Given the description of an element on the screen output the (x, y) to click on. 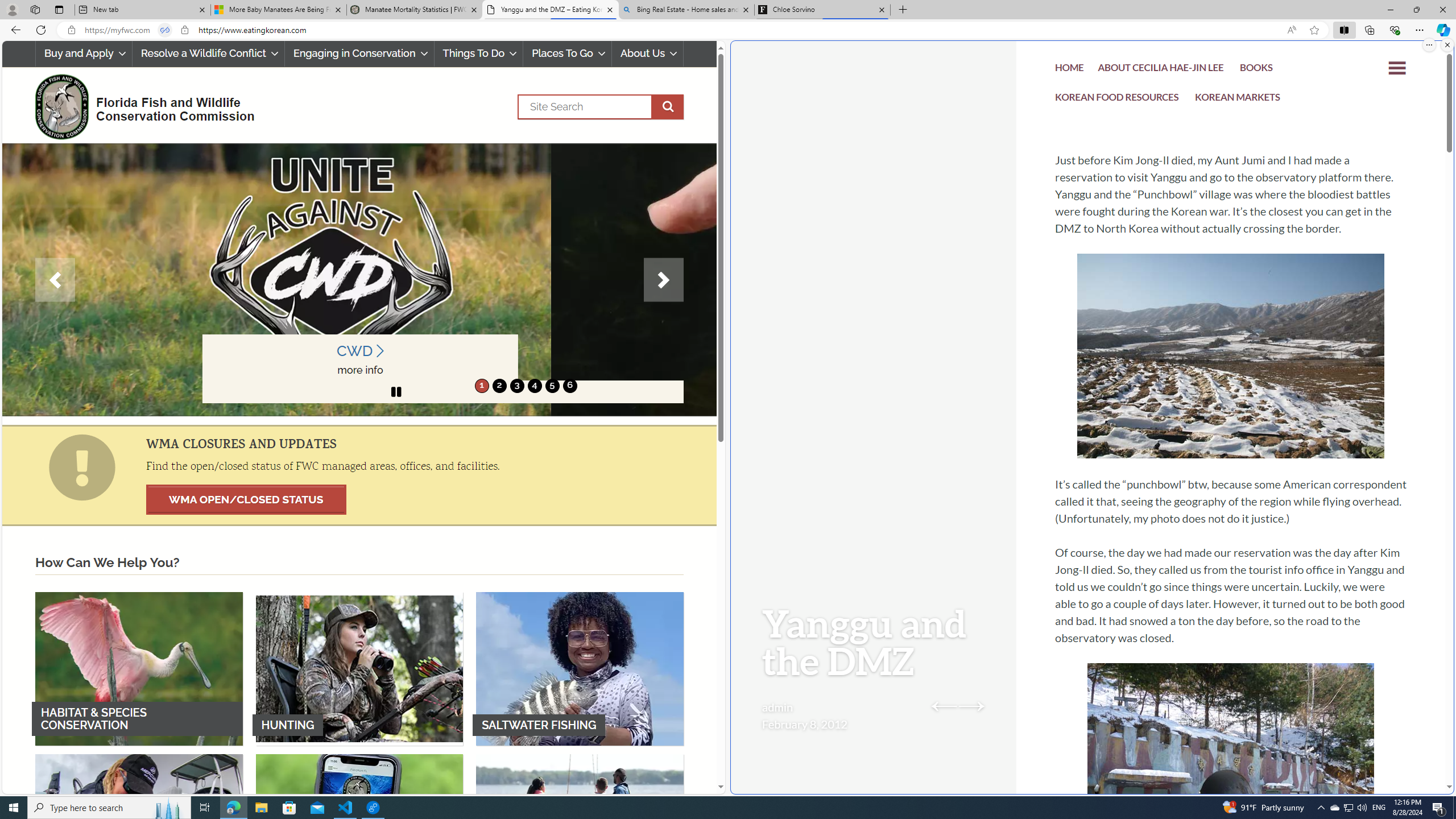
6 (569, 385)
Engaging in Conservation (358, 53)
FWC Logo (61, 106)
SALTWATER FISHING (580, 668)
Places To Go (566, 53)
move to slide 4 (534, 385)
execute site search (667, 106)
More options. (1428, 45)
Things To Do (477, 53)
move to slide 2 (499, 385)
HOME (1069, 70)
